Given the description of an element on the screen output the (x, y) to click on. 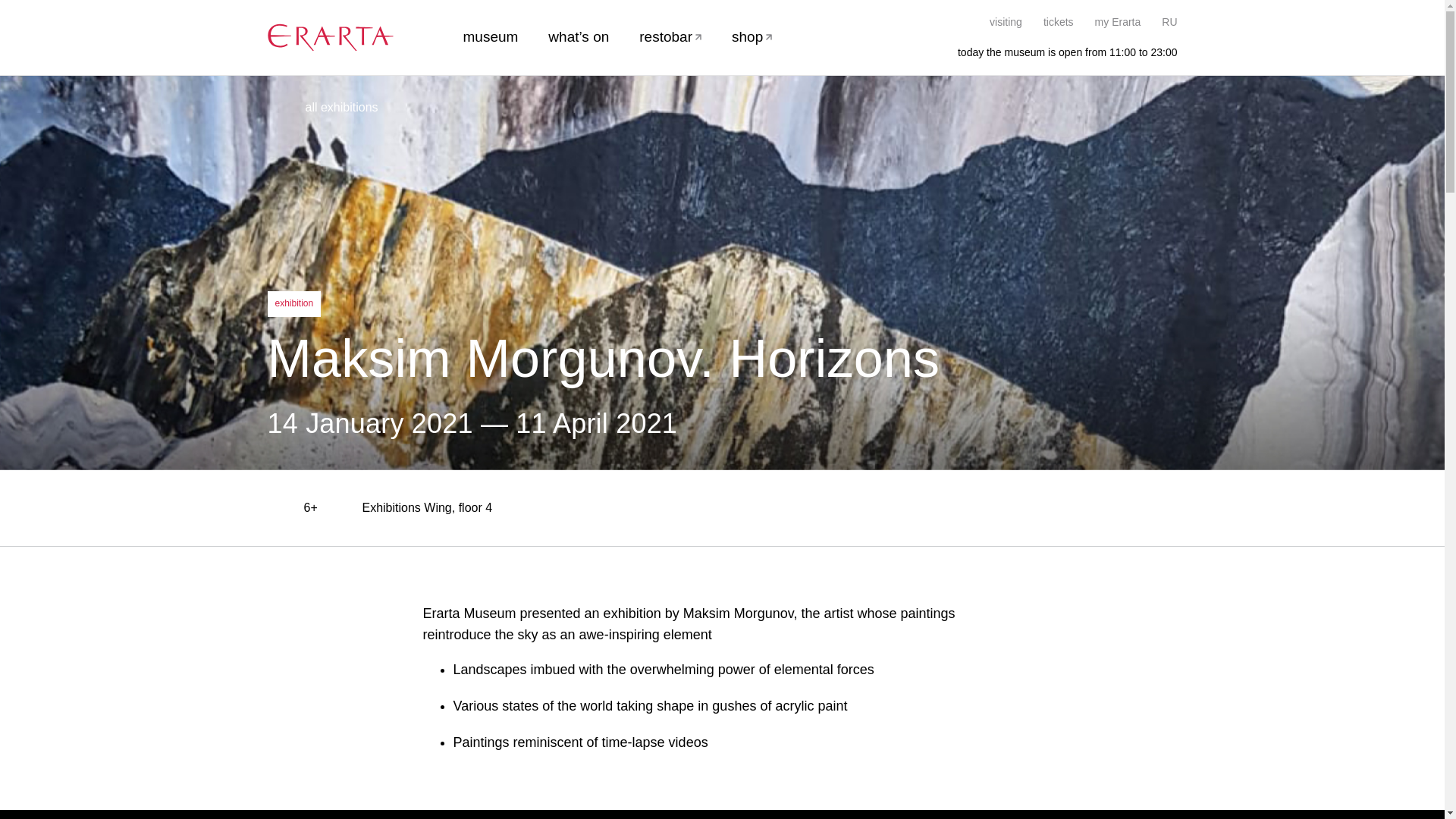
today the museum is open from 11:00 to 23:00 (1058, 51)
tickets (1058, 21)
museum (490, 36)
all exhibitions (321, 108)
restobar (670, 36)
Exhibitions Wing, floor 4 (411, 507)
visiting (1006, 21)
my Erarta (1117, 21)
shop (751, 36)
RU (1168, 21)
